Given the description of an element on the screen output the (x, y) to click on. 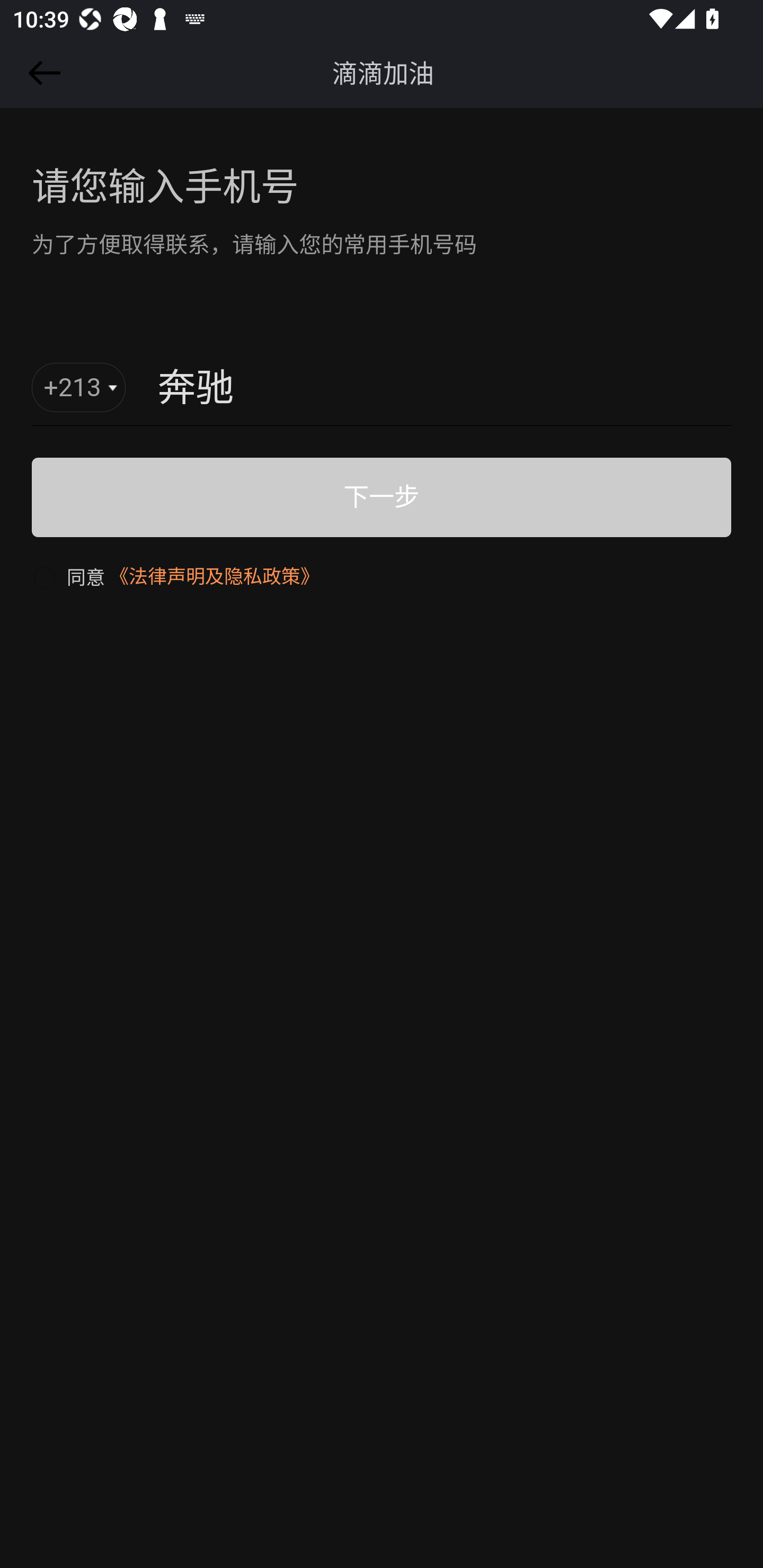
 (41, 72)
+213 (79, 387)
奔驰 (402, 388)
下一步 (381, 496)
同意 (68, 576)
《法律声明及隐私政策》 (213, 576)
